Given the description of an element on the screen output the (x, y) to click on. 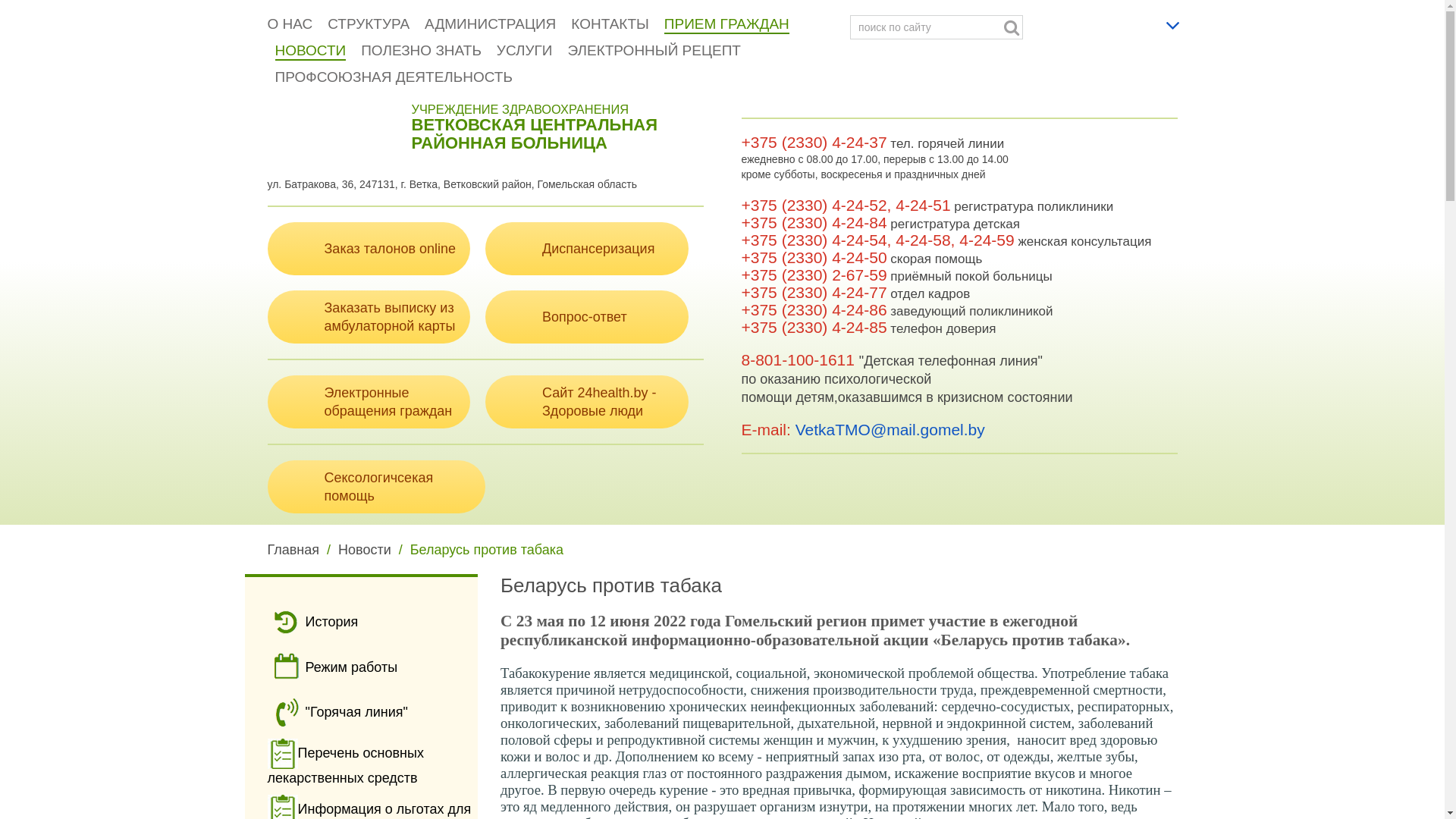
Russian Element type: hover (1149, 21)
VetkaTMO@mail.gomel.by Element type: text (890, 429)
